Given the description of an element on the screen output the (x, y) to click on. 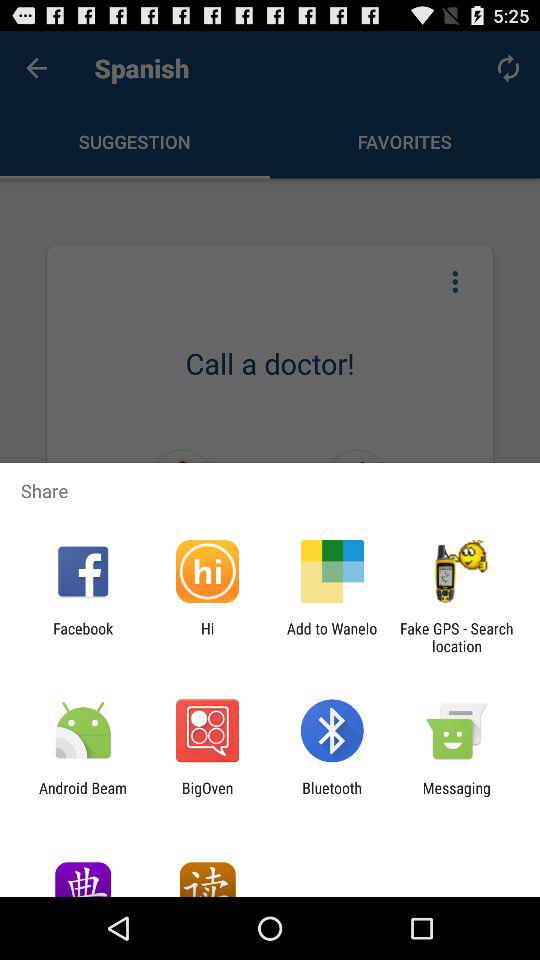
turn off the android beam app (83, 796)
